Given the description of an element on the screen output the (x, y) to click on. 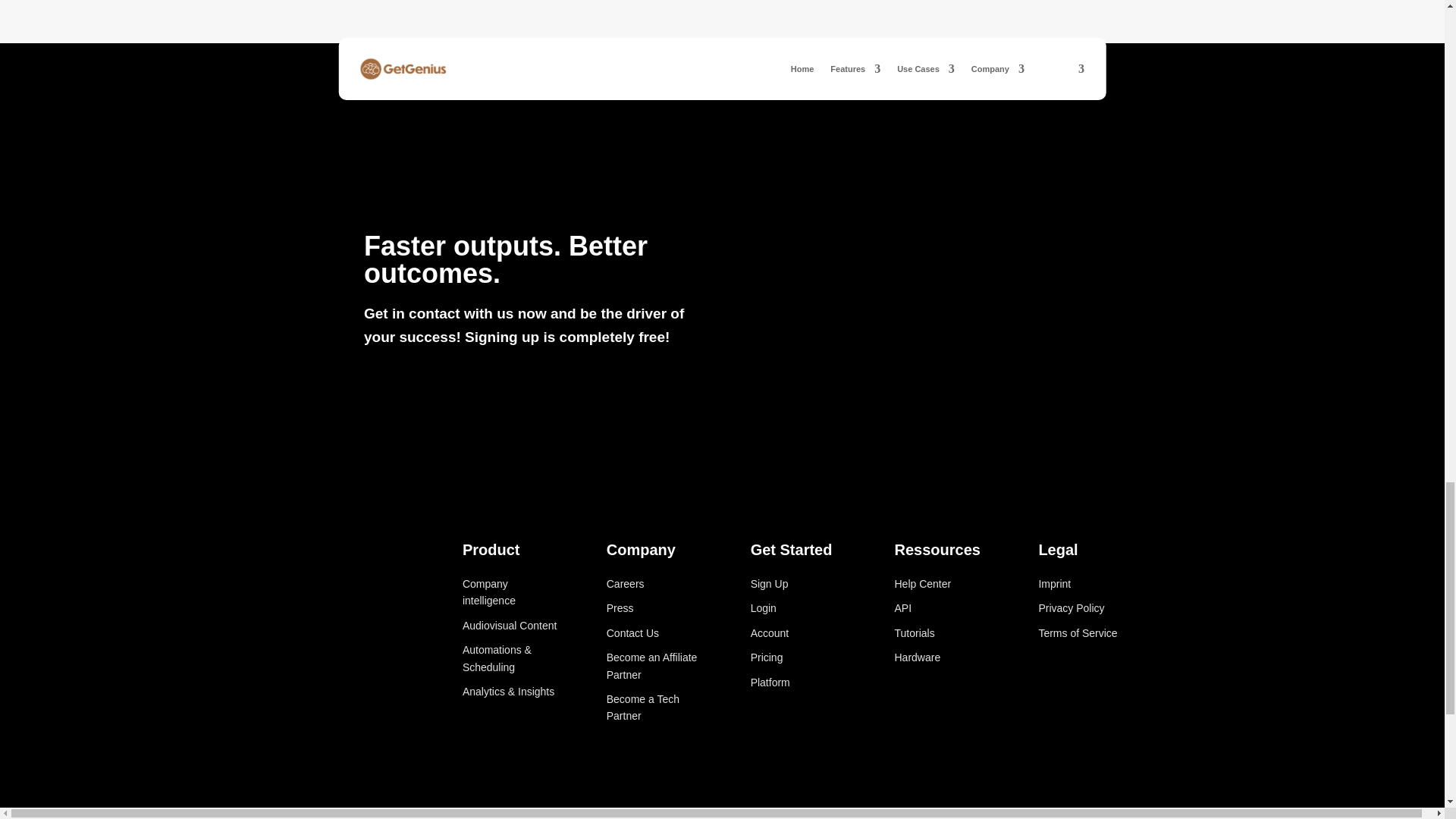
Picture 1 (1087, 699)
